Given the description of an element on the screen output the (x, y) to click on. 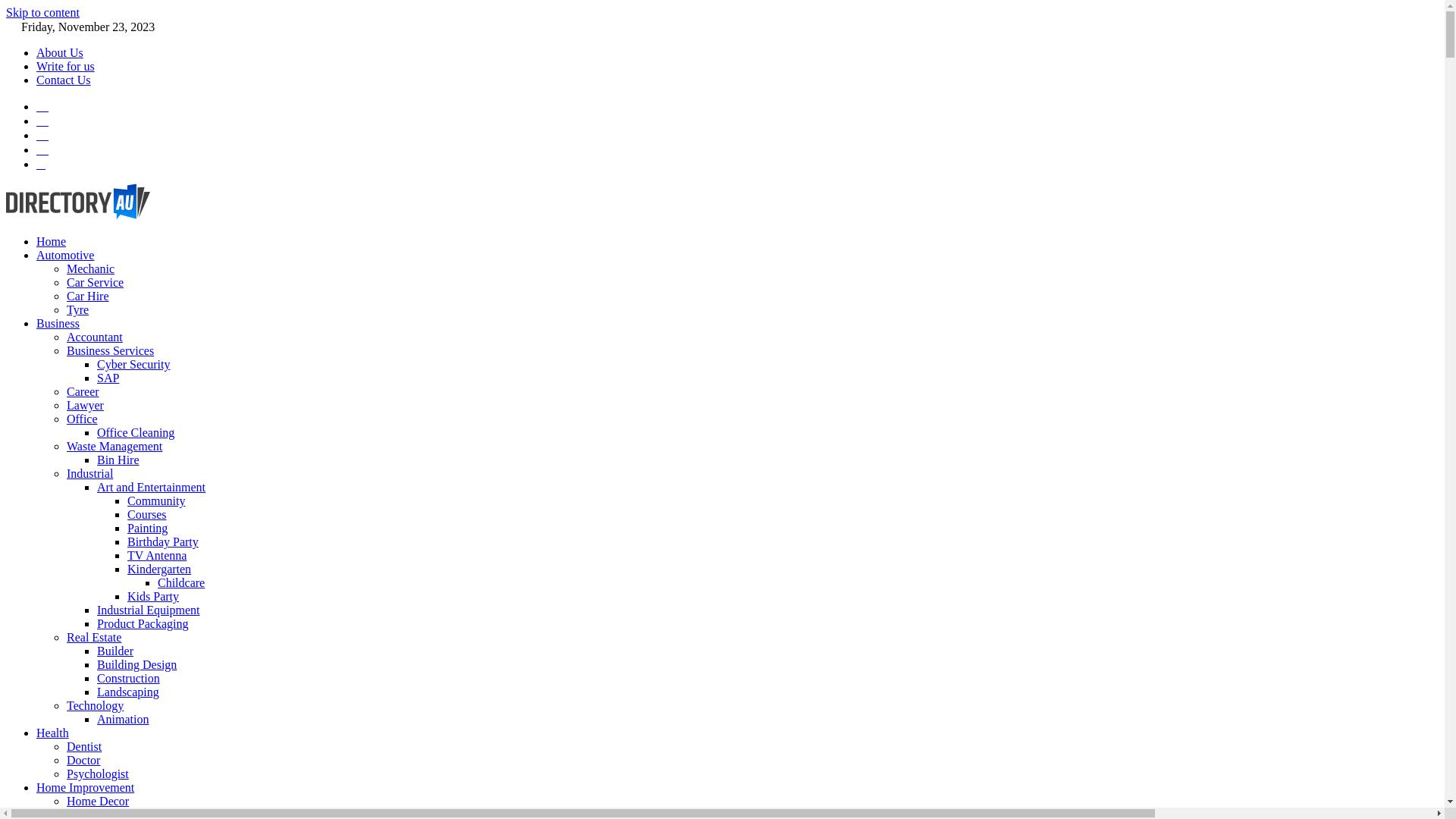
Industrial Element type: text (89, 473)
Career Element type: text (82, 391)
Real Estate Element type: text (93, 636)
Psychologist Element type: text (97, 773)
Doctor Element type: text (83, 759)
Lawyer Element type: text (84, 404)
Landscaping Element type: text (128, 691)
Industrial Equipment Element type: text (148, 609)
Write for us Element type: text (65, 65)
Home Element type: text (50, 241)
Builder Element type: text (115, 650)
Community Element type: text (156, 500)
Kids Party Element type: text (152, 595)
Home Decor Element type: text (97, 800)
Art and Entertainment Element type: text (151, 486)
Painting Element type: text (147, 527)
Accountant Element type: text (94, 336)
Birthday Party Element type: text (162, 541)
Technology Element type: text (94, 705)
Mechanic Element type: text (90, 268)
Car Hire Element type: text (87, 295)
Courses Element type: text (146, 514)
Home Improvement Element type: text (85, 787)
Car Service Element type: text (94, 282)
Cyber Security Element type: text (133, 363)
Business Services Element type: text (109, 350)
Product Packaging Element type: text (142, 623)
Office Element type: text (81, 418)
Tyre Element type: text (77, 309)
Contact Us Element type: text (63, 79)
Animation Element type: text (122, 718)
Building Design Element type: text (136, 664)
Business Element type: text (57, 322)
Construction Element type: text (128, 677)
TV Antenna Element type: text (156, 555)
Childcare Element type: text (180, 582)
Kindergarten Element type: text (159, 568)
Dentist Element type: text (83, 746)
Office Cleaning Element type: text (135, 432)
Automotive Element type: text (65, 254)
SAP Element type: text (108, 377)
Skip to content Element type: text (42, 12)
About Us Element type: text (59, 52)
Bin Hire Element type: text (118, 459)
Waste Management Element type: text (114, 445)
Health Element type: text (52, 732)
